Given the description of an element on the screen output the (x, y) to click on. 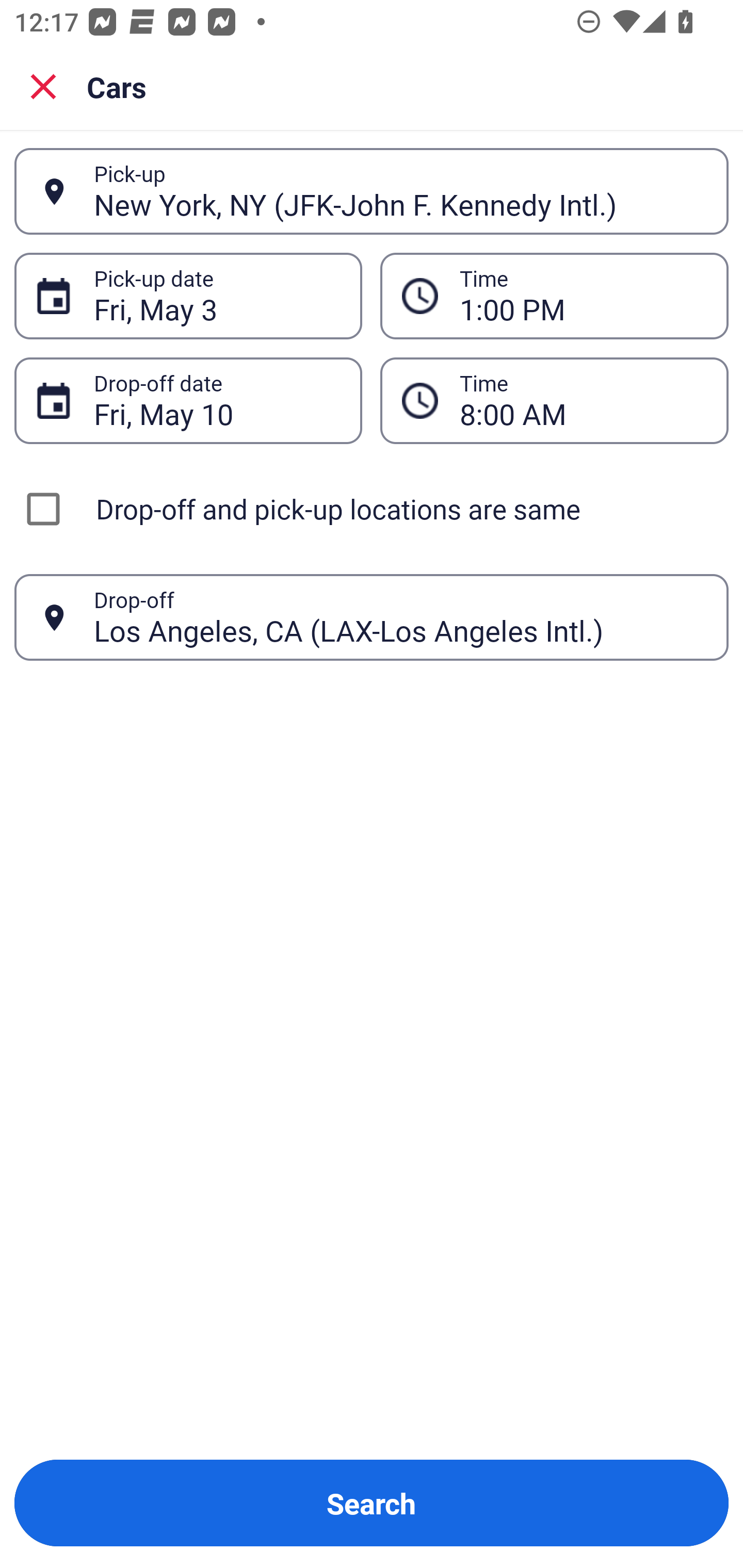
Close search screen (43, 86)
New York, NY (JFK-John F. Kennedy Intl.) Pick-up (371, 191)
New York, NY (JFK-John F. Kennedy Intl.) (399, 191)
Fri, May 3 Pick-up date (188, 295)
1:00 PM (554, 295)
Fri, May 3 (216, 296)
1:00 PM (582, 296)
Fri, May 10 Drop-off date (188, 400)
8:00 AM (554, 400)
Fri, May 10 (216, 400)
8:00 AM (582, 400)
Drop-off and pick-up locations are same (371, 508)
Los Angeles, CA (LAX-Los Angeles Intl.) Drop-off (371, 616)
Los Angeles, CA (LAX-Los Angeles Intl.) (399, 616)
Search Button Search (371, 1502)
